Given the description of an element on the screen output the (x, y) to click on. 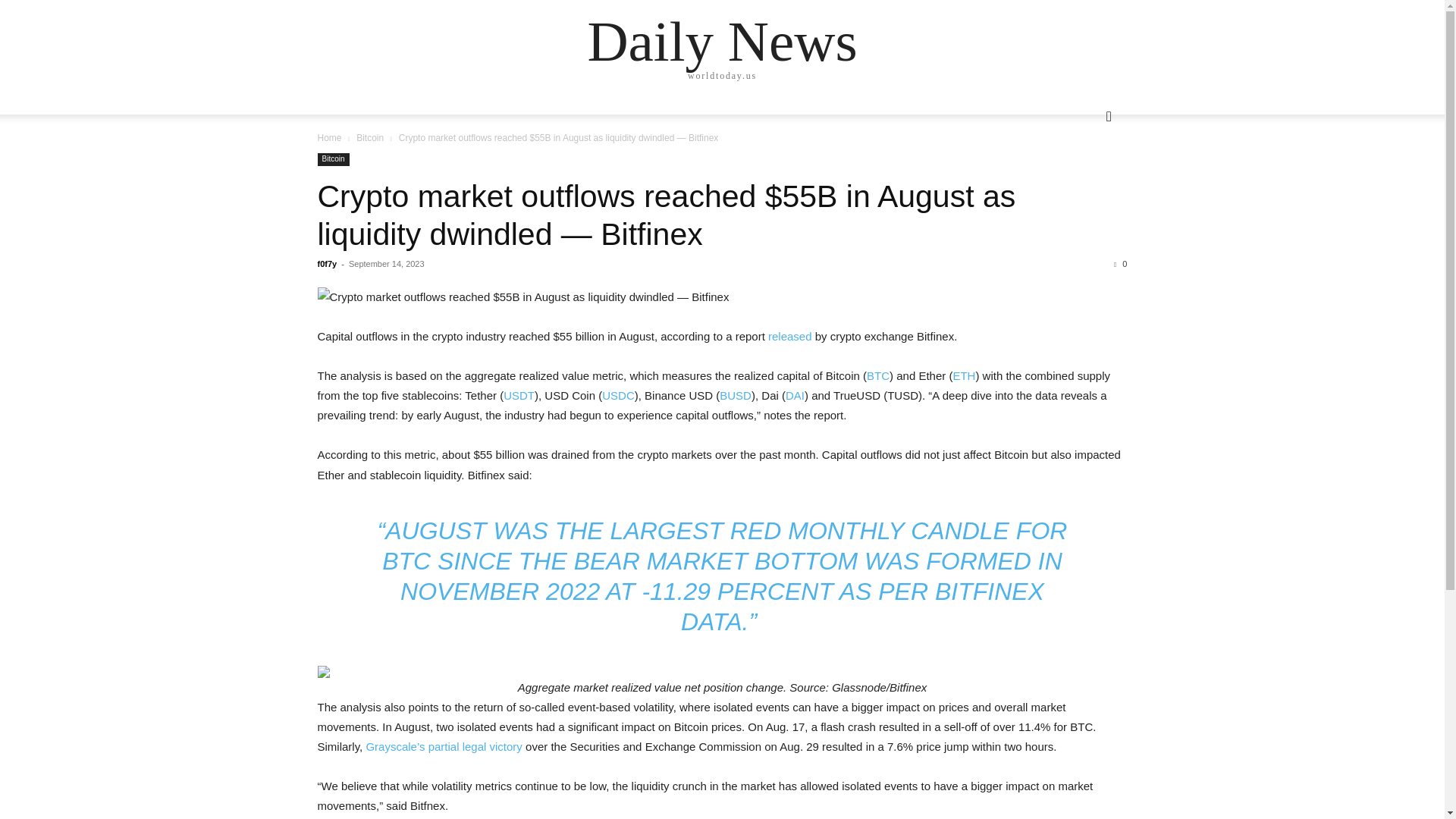
View all posts in Bitcoin (370, 137)
ETH (963, 375)
f0f7y (326, 263)
USDC (618, 395)
Home (328, 137)
BTC (877, 375)
Bitcoin (333, 159)
USDT (518, 395)
DAI (795, 395)
released (790, 336)
BUSD (735, 395)
Search (1085, 177)
0 (1119, 263)
Daily News (721, 41)
Bitcoin (370, 137)
